Given the description of an element on the screen output the (x, y) to click on. 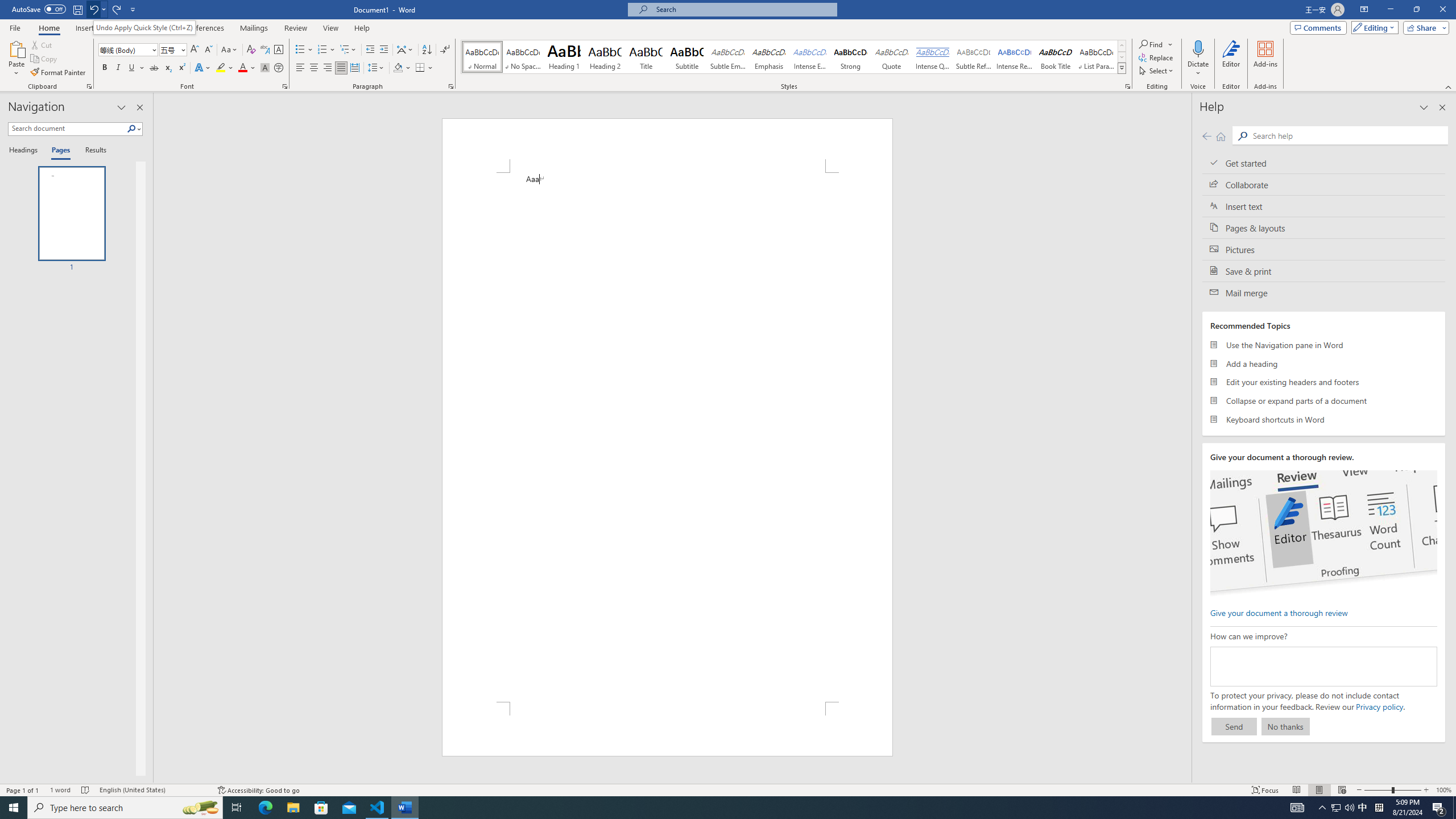
Heading 2 (605, 56)
Select (1157, 69)
Close pane (139, 107)
Search document (66, 128)
Open (182, 49)
Justify (340, 67)
Format Painter (58, 72)
